Given the description of an element on the screen output the (x, y) to click on. 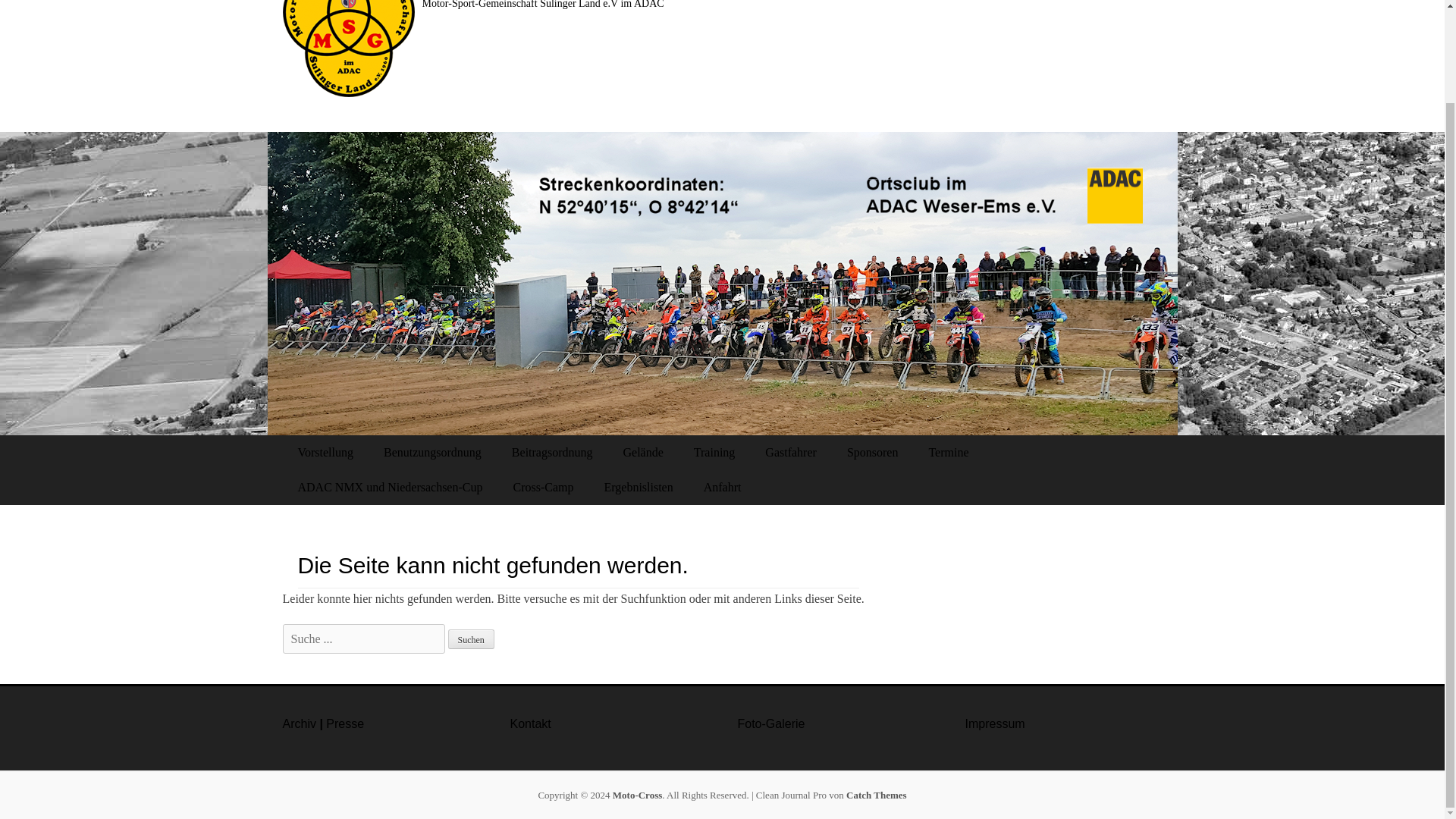
Archiv (298, 723)
Vorstellung (325, 452)
Suchen (469, 639)
Benutzungsordnung (432, 452)
Beitragsordnung (552, 452)
Kontakt (529, 723)
Sponsoren (872, 452)
ADAC NMX und Niedersachsen-Cup (389, 487)
Impressum (994, 723)
Suchen (469, 639)
Suchen (469, 639)
Ergebnislisten (637, 487)
Moto-Cross (637, 794)
Anfahrt (722, 487)
Foto-Galerie (770, 723)
